Given the description of an element on the screen output the (x, y) to click on. 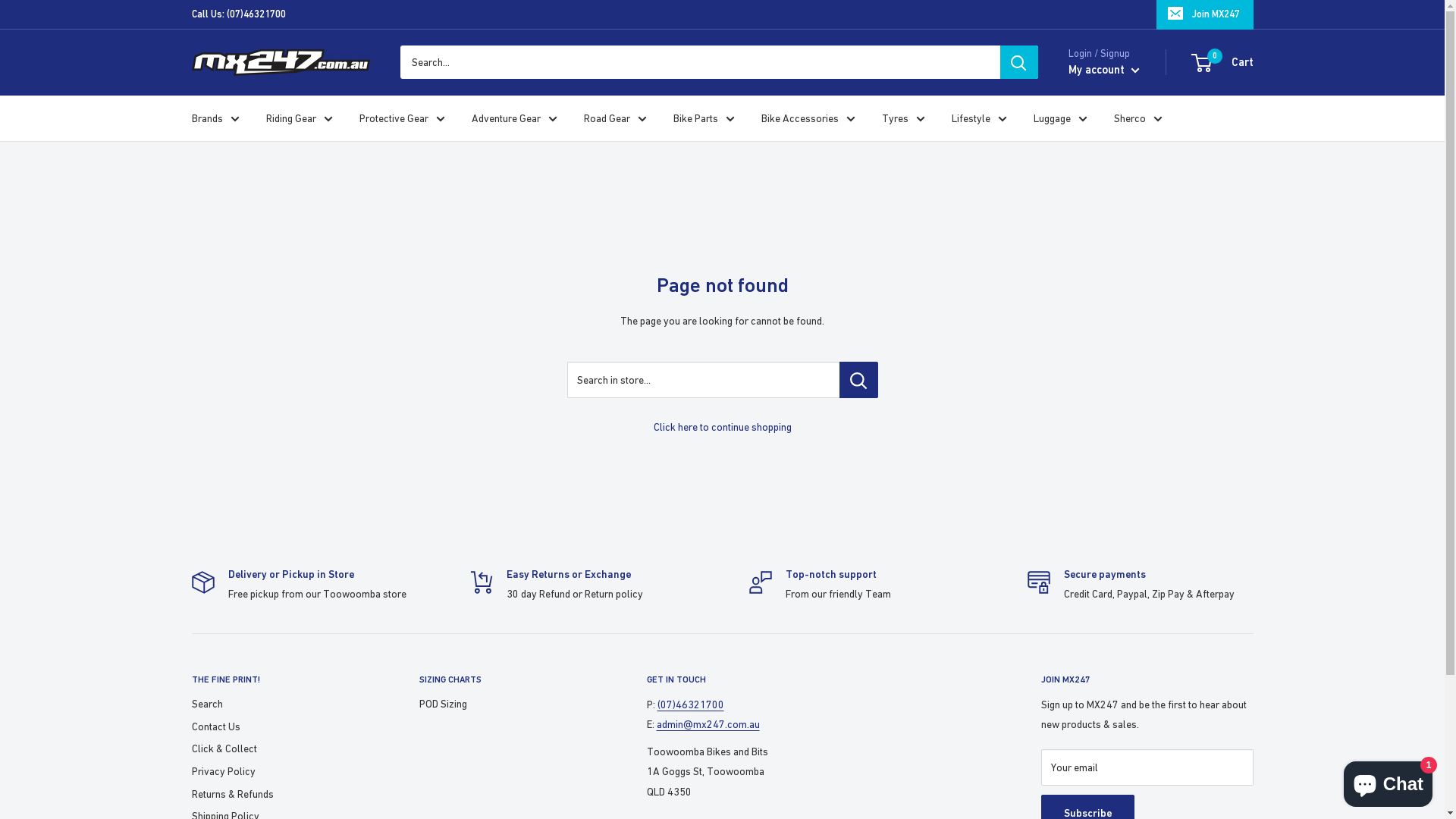
SIZING CHARTS Element type: text (505, 679)
POD Sizing Element type: text (505, 704)
GET IN TOUCH Element type: text (816, 679)
0
Cart Element type: text (1222, 61)
Returns & Refunds Element type: text (278, 793)
Brands Element type: text (214, 118)
admin@mx247.com.au Element type: text (707, 724)
Privacy Policy Element type: text (278, 771)
(07)46321700 Element type: text (689, 704)
Bike Accessories Element type: text (808, 118)
Bike Parts Element type: text (703, 118)
Call Us: (07)46321700 Element type: text (238, 14)
Road Gear Element type: text (614, 118)
Lifestyle Element type: text (978, 118)
My account Element type: text (1103, 69)
Luggage Element type: text (1059, 118)
Join MX247 Element type: text (1203, 14)
Shopify online store chat Element type: hover (1388, 780)
Click here to continue shopping Element type: text (722, 426)
THE FINE PRINT! Element type: text (278, 679)
Click & Collect Element type: text (278, 748)
Protective Gear Element type: text (402, 118)
Search Element type: text (278, 704)
Riding Gear Element type: text (298, 118)
Tyres Element type: text (902, 118)
Contact Us Element type: text (278, 726)
Sherco Element type: text (1137, 118)
Adventure Gear Element type: text (514, 118)
